Given the description of an element on the screen output the (x, y) to click on. 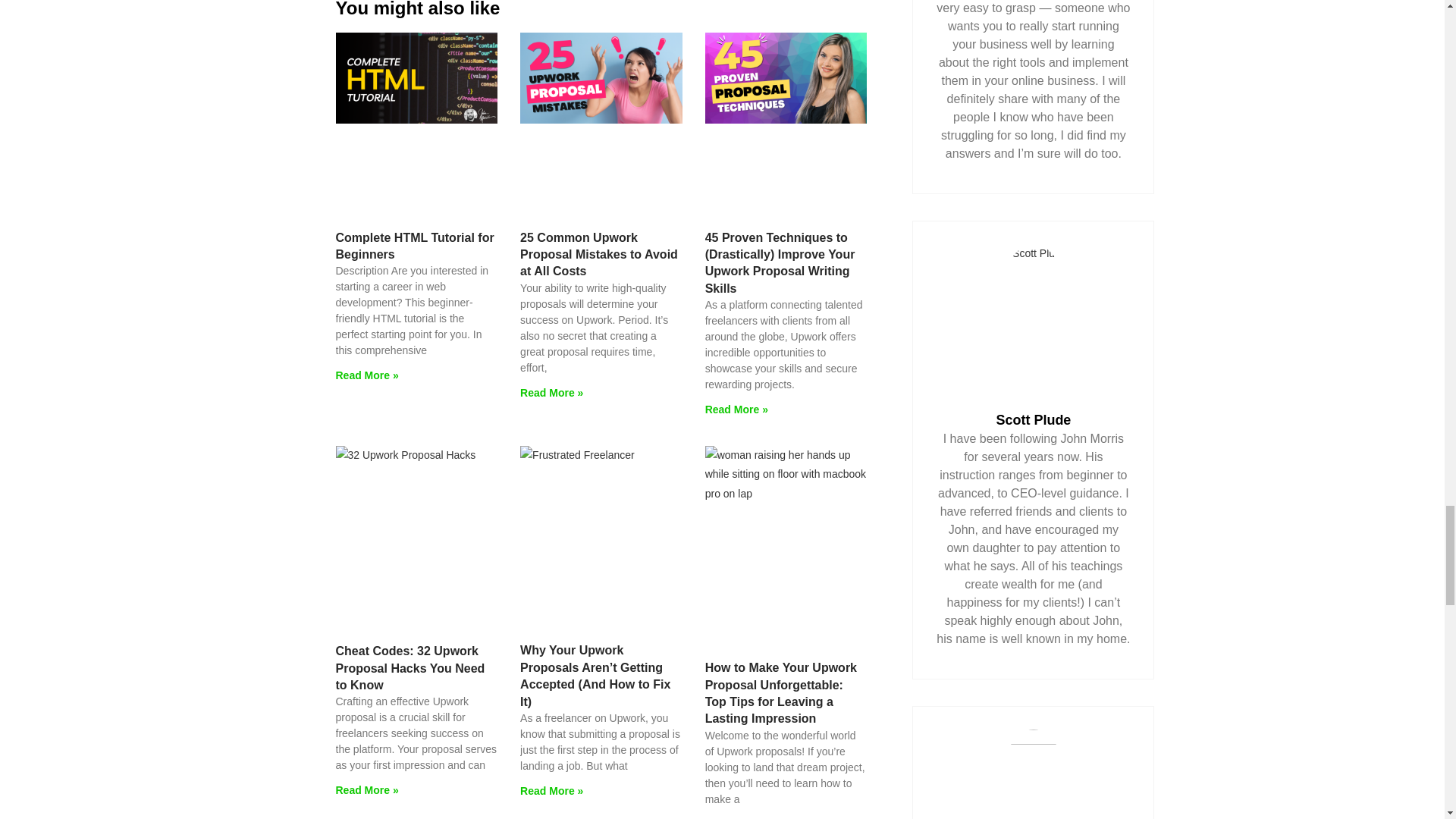
Cheat Codes: 32 Upwork Proposal Hacks You Need to Know (409, 667)
25 Common Upwork Proposal Mistakes to Avoid at All Costs (598, 253)
Complete HTML Tutorial for Beginners (413, 245)
